Given the description of an element on the screen output the (x, y) to click on. 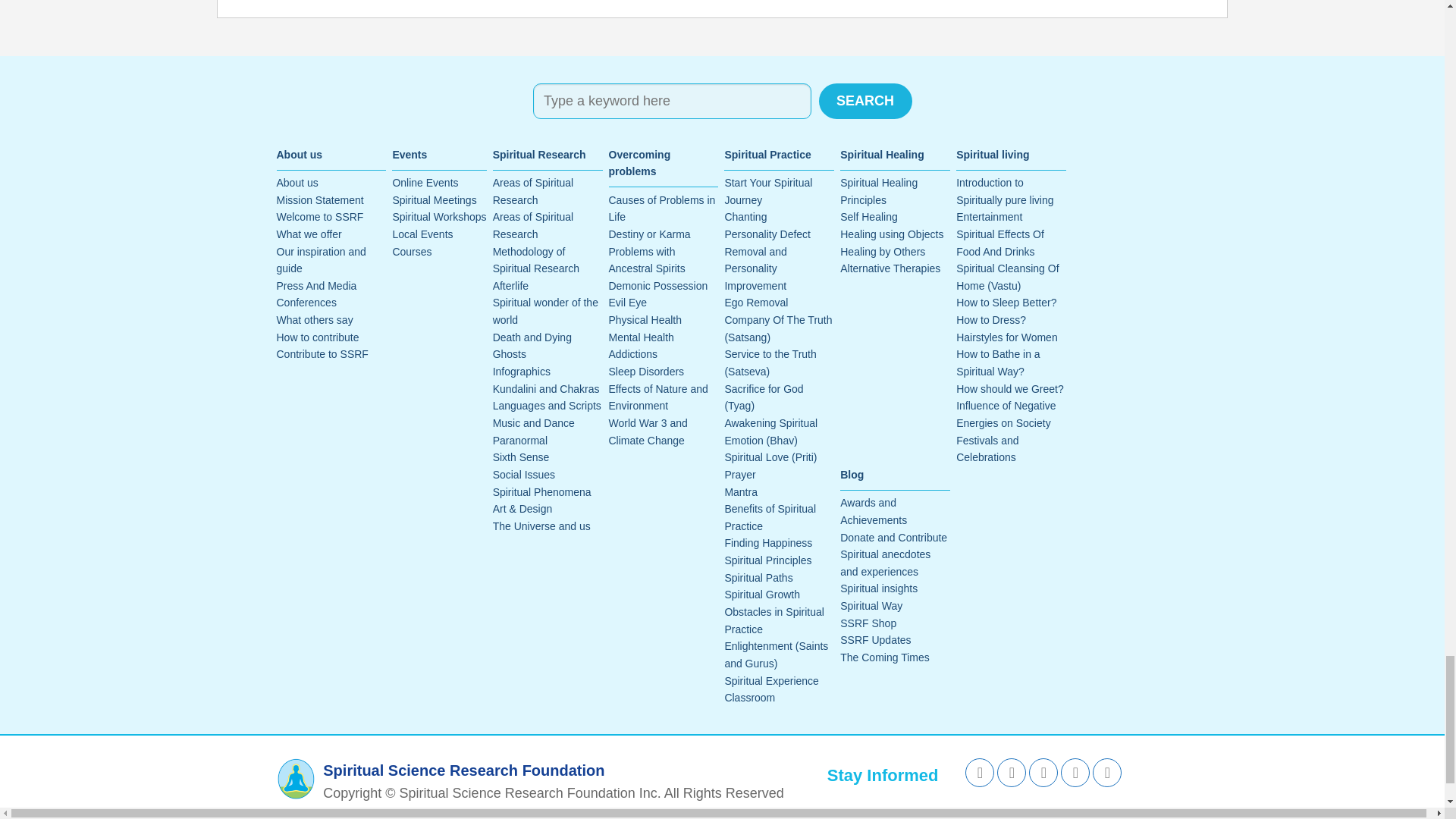
Search for: (671, 100)
Search (865, 100)
Youtube (1043, 772)
Pinterest (1107, 772)
Facebook (979, 772)
Search (865, 100)
Instagram (1075, 772)
Twitter (1011, 772)
